Given the description of an element on the screen output the (x, y) to click on. 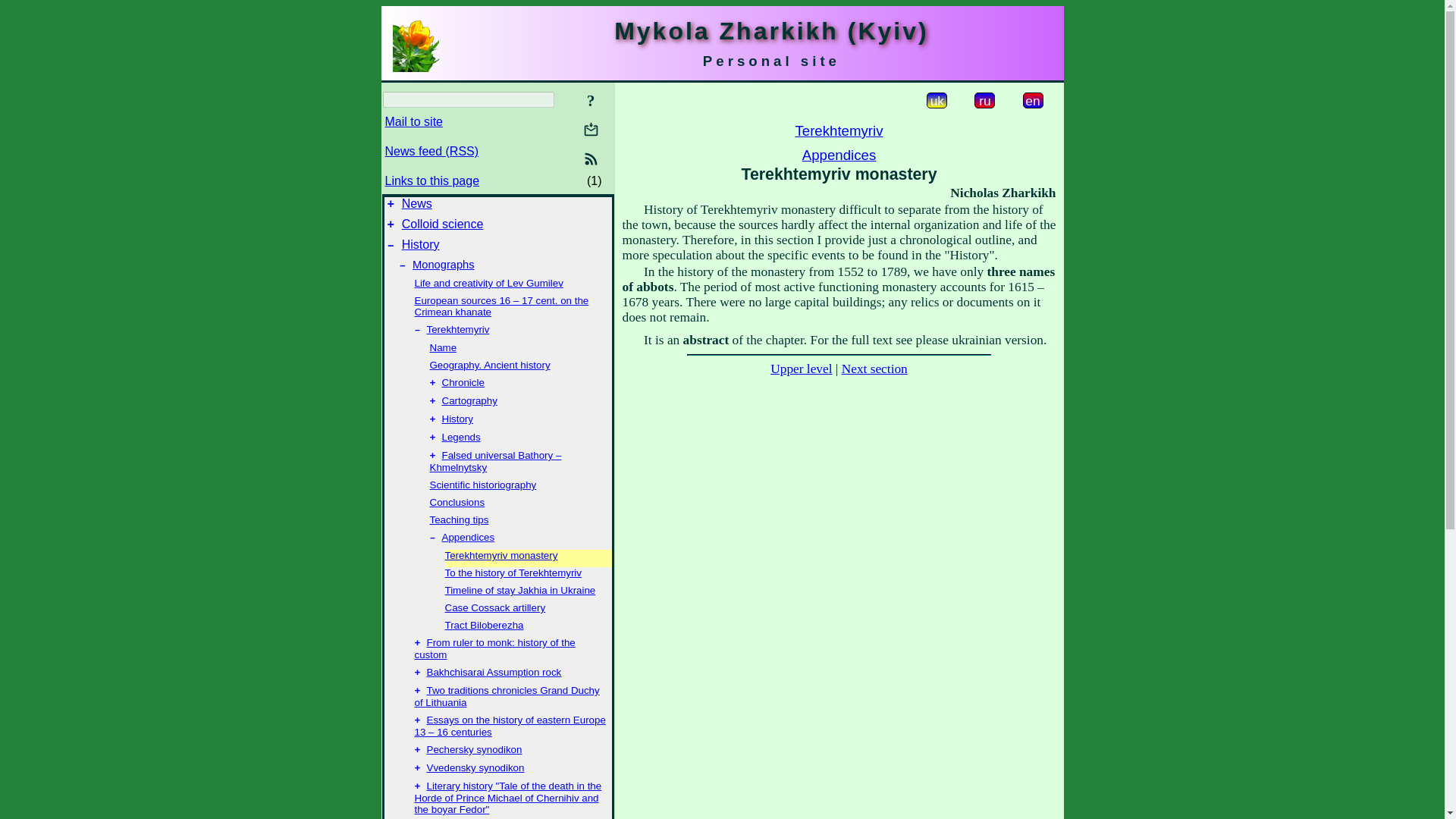
Teaching tips (458, 519)
Mail to site (413, 121)
History (420, 244)
Links to this page (432, 180)
History (456, 419)
Legends (460, 437)
Geography. Ancient history (489, 365)
ukr (936, 100)
Mail to site (590, 129)
eng (1032, 100)
